Given the description of an element on the screen output the (x, y) to click on. 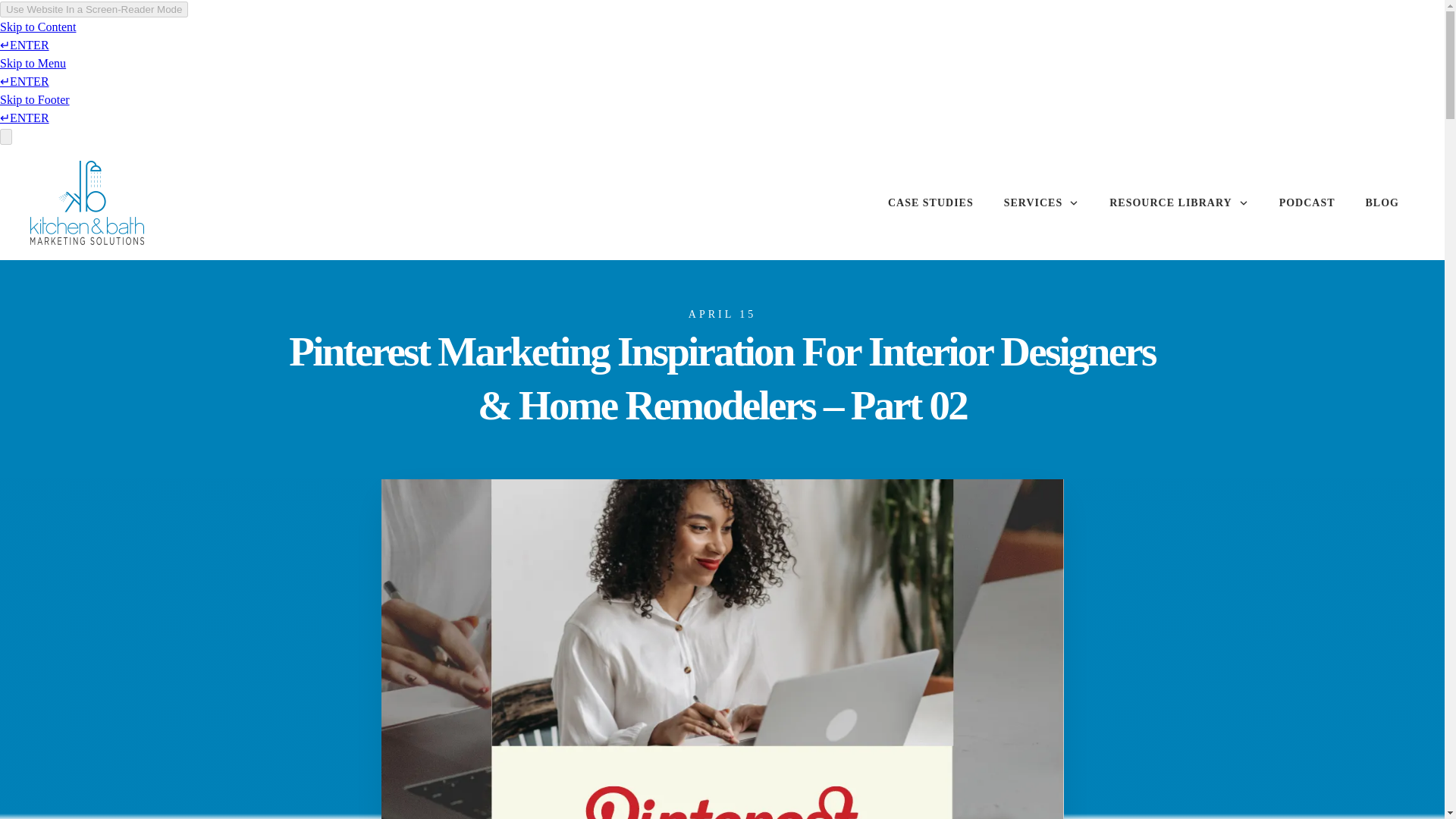
RESOURCE LIBRARY (1178, 202)
PODCAST (1307, 202)
SERVICES (1042, 202)
CASE STUDIES (931, 202)
